Given the description of an element on the screen output the (x, y) to click on. 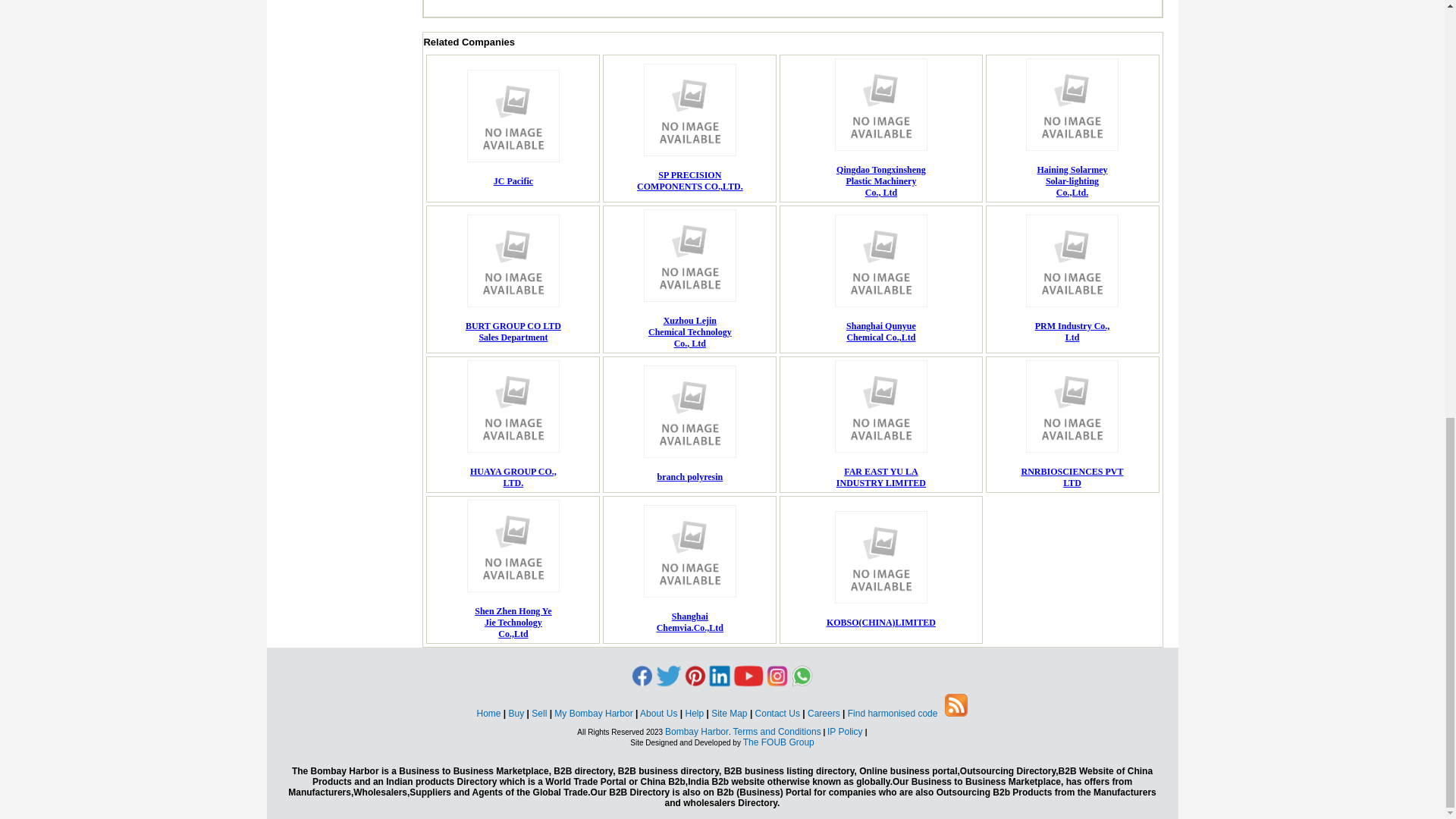
The FOUB Group - We build Internet related Businesses. (880, 180)
branch polyresin (777, 742)
